Given the description of an element on the screen output the (x, y) to click on. 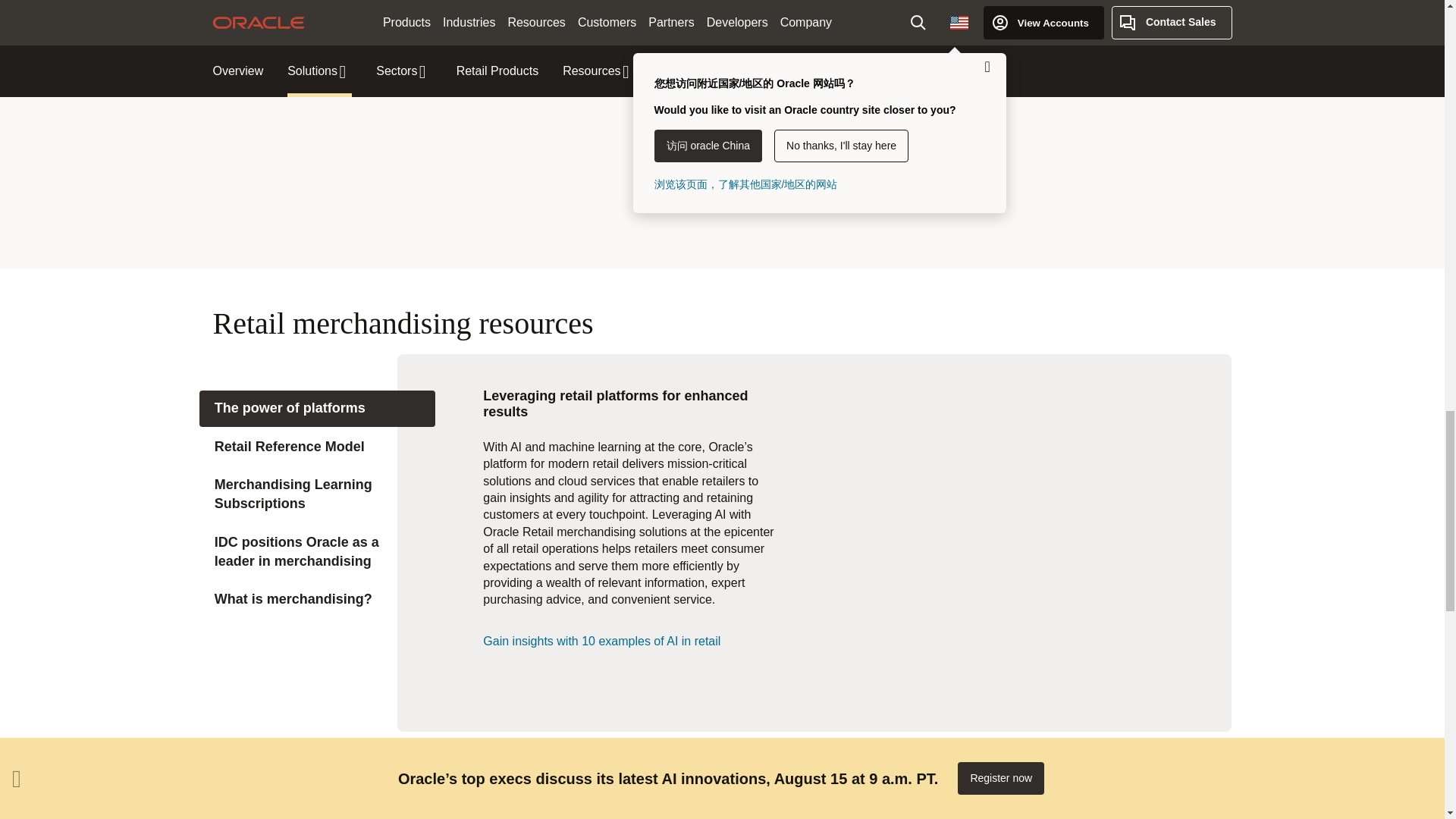
Read the Waldo's Dollar Mart story (594, 194)
Read the Komax story (1103, 117)
Read the Cape Union Mart story (594, 117)
Read the Mr Price story (339, 194)
Read the Flink story (849, 117)
